Given the description of an element on the screen output the (x, y) to click on. 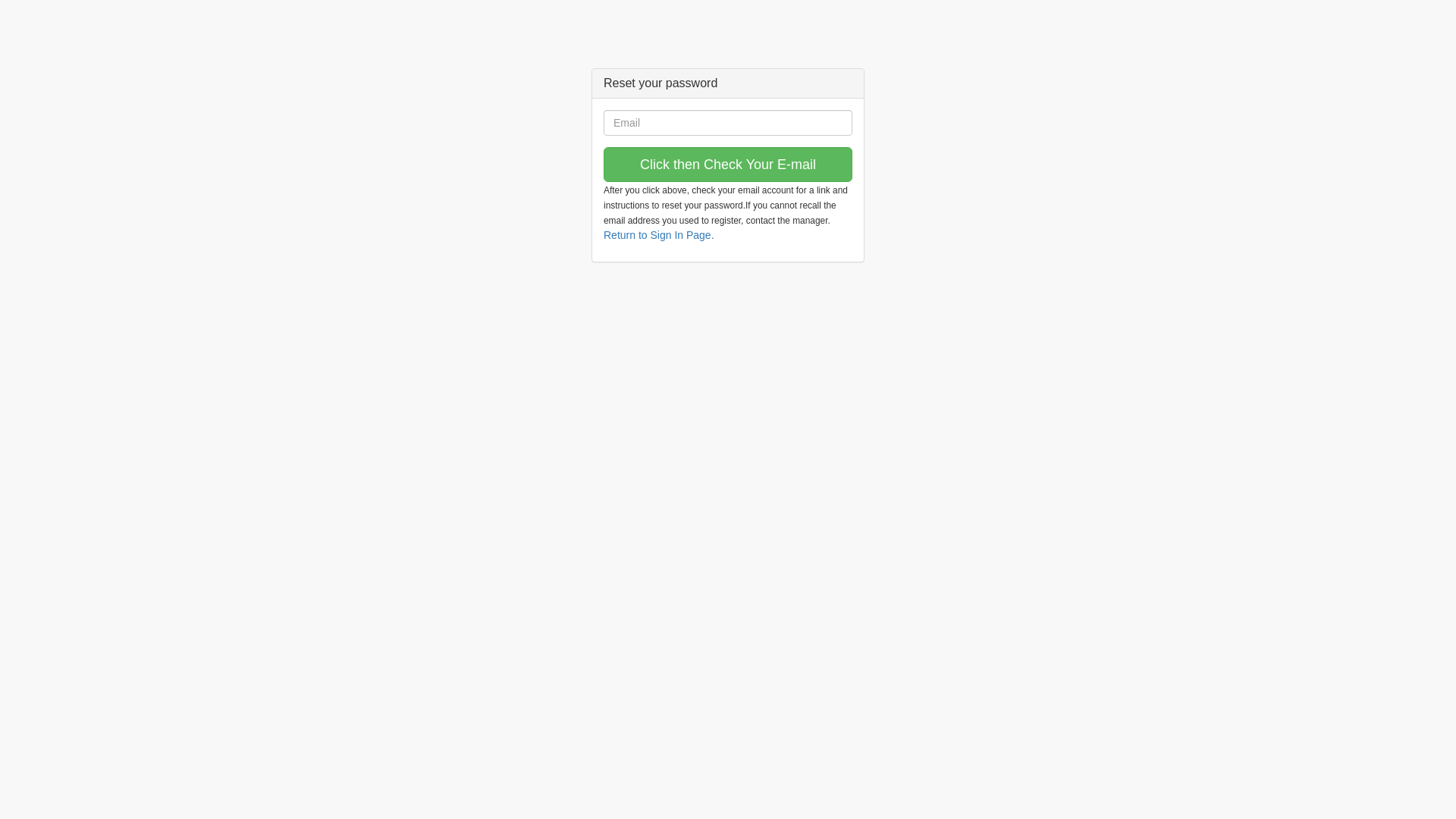
Return to Sign In Page. Element type: text (658, 235)
Click then Check Your E-mail Element type: text (727, 164)
